Given the description of an element on the screen output the (x, y) to click on. 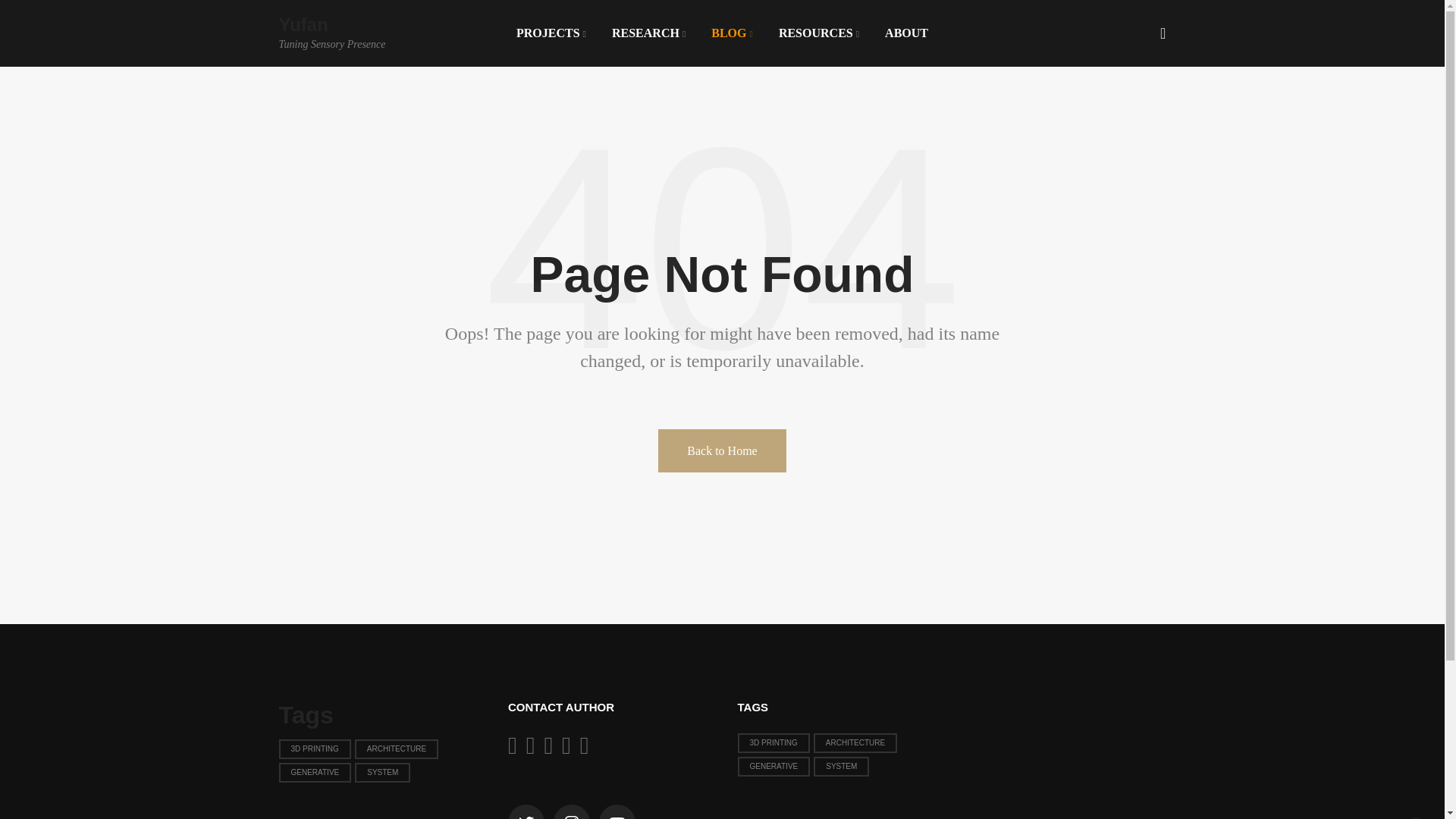
RESOURCES (352, 36)
PROJECTS (818, 33)
RESEARCH (551, 33)
